Given the description of an element on the screen output the (x, y) to click on. 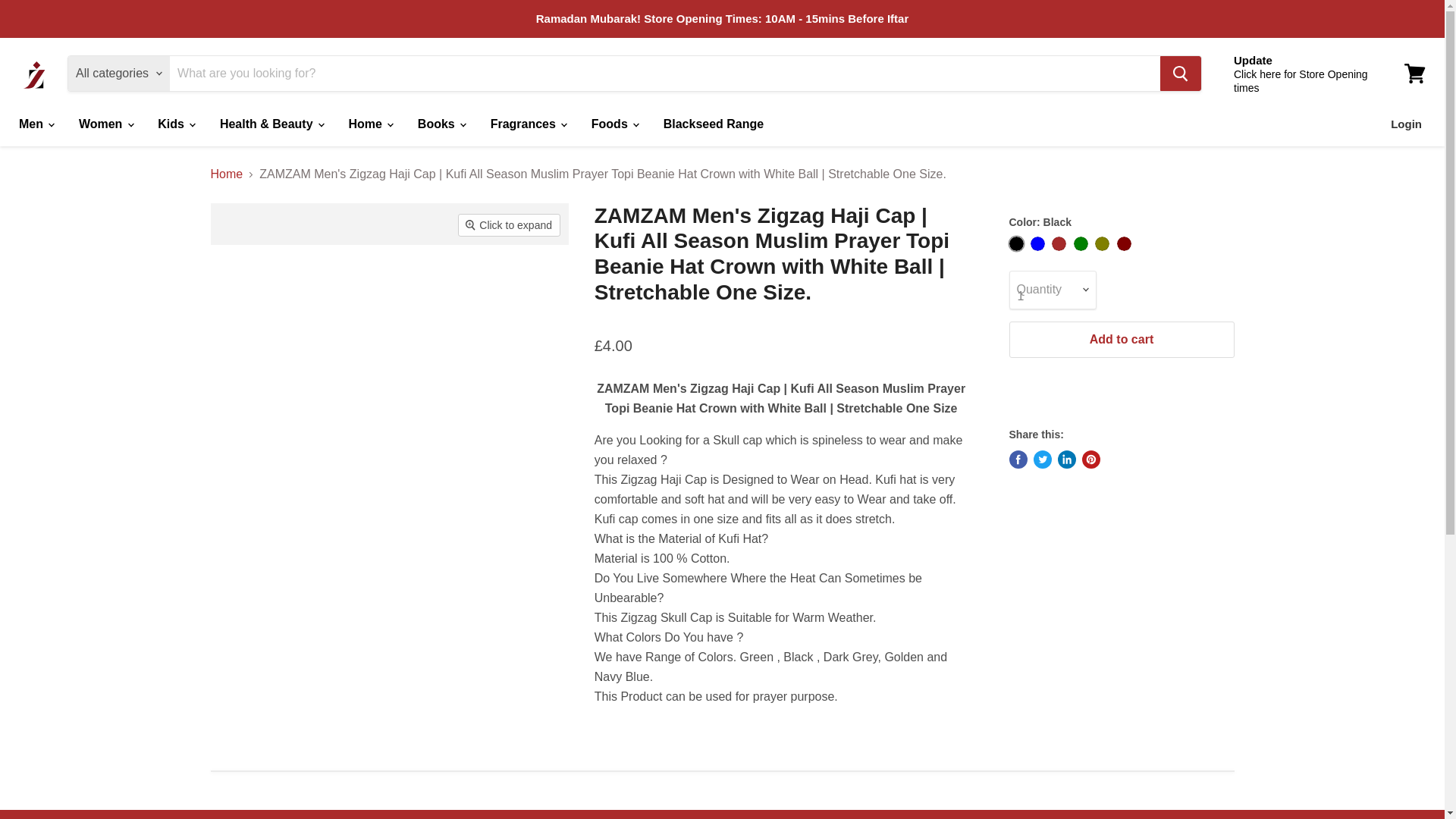
Kids (176, 124)
Women (104, 124)
Men (35, 124)
View cart (1414, 73)
